Given the description of an element on the screen output the (x, y) to click on. 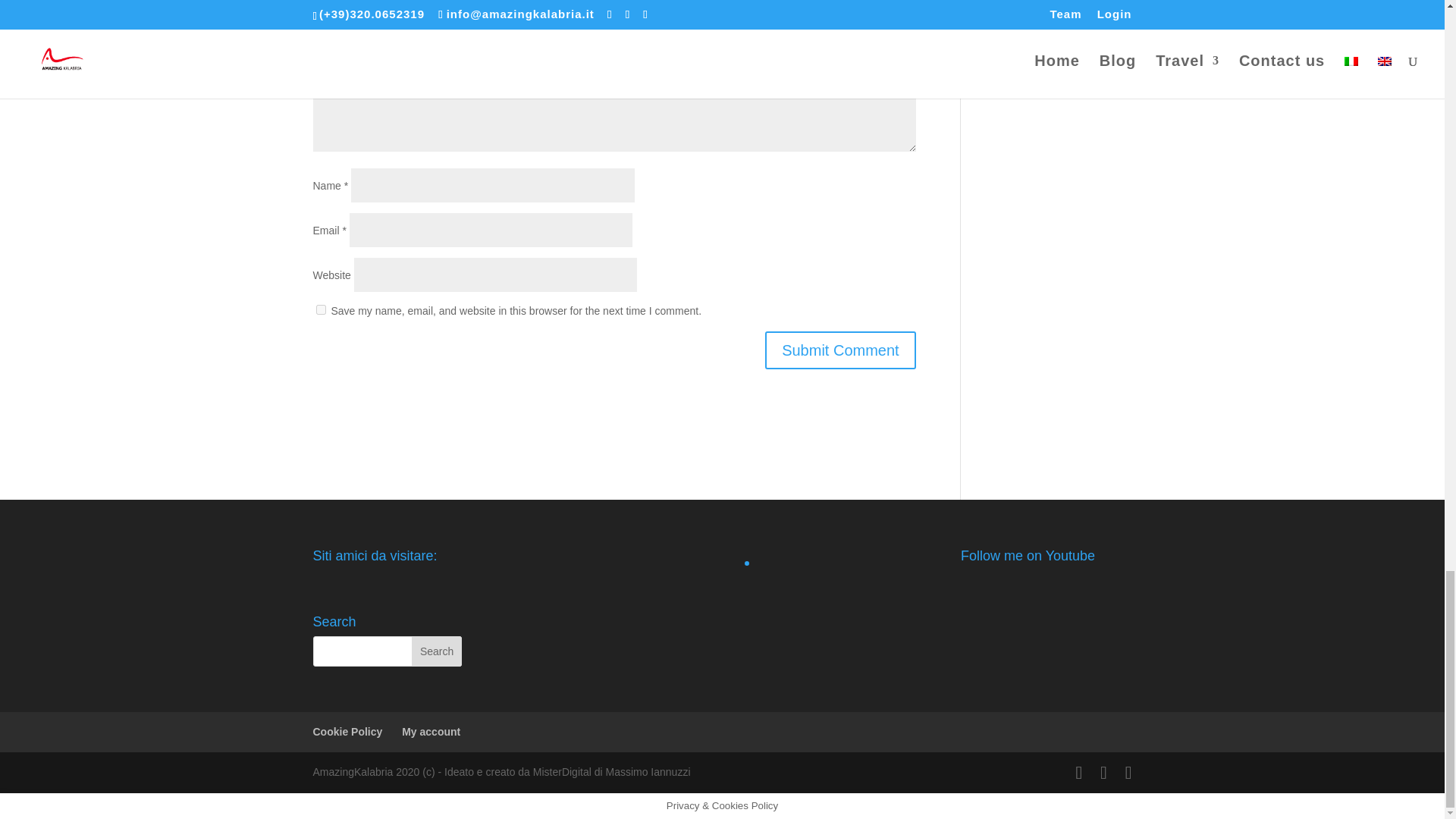
Submit Comment (840, 350)
Submit Comment (840, 350)
Search (436, 651)
Cookie Policy (347, 730)
yes (319, 309)
My account (430, 730)
Search (436, 651)
